Given the description of an element on the screen output the (x, y) to click on. 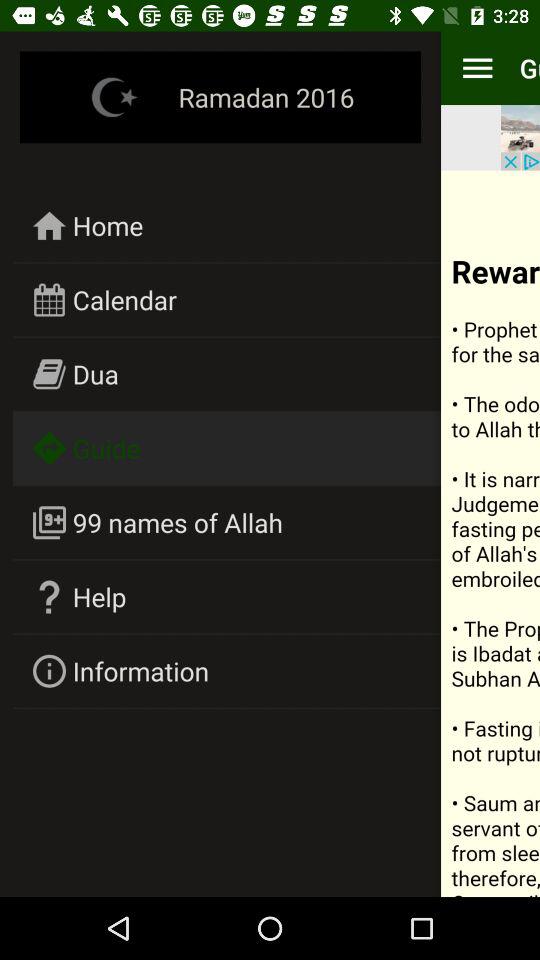
flip to the home (108, 225)
